Given the description of an element on the screen output the (x, y) to click on. 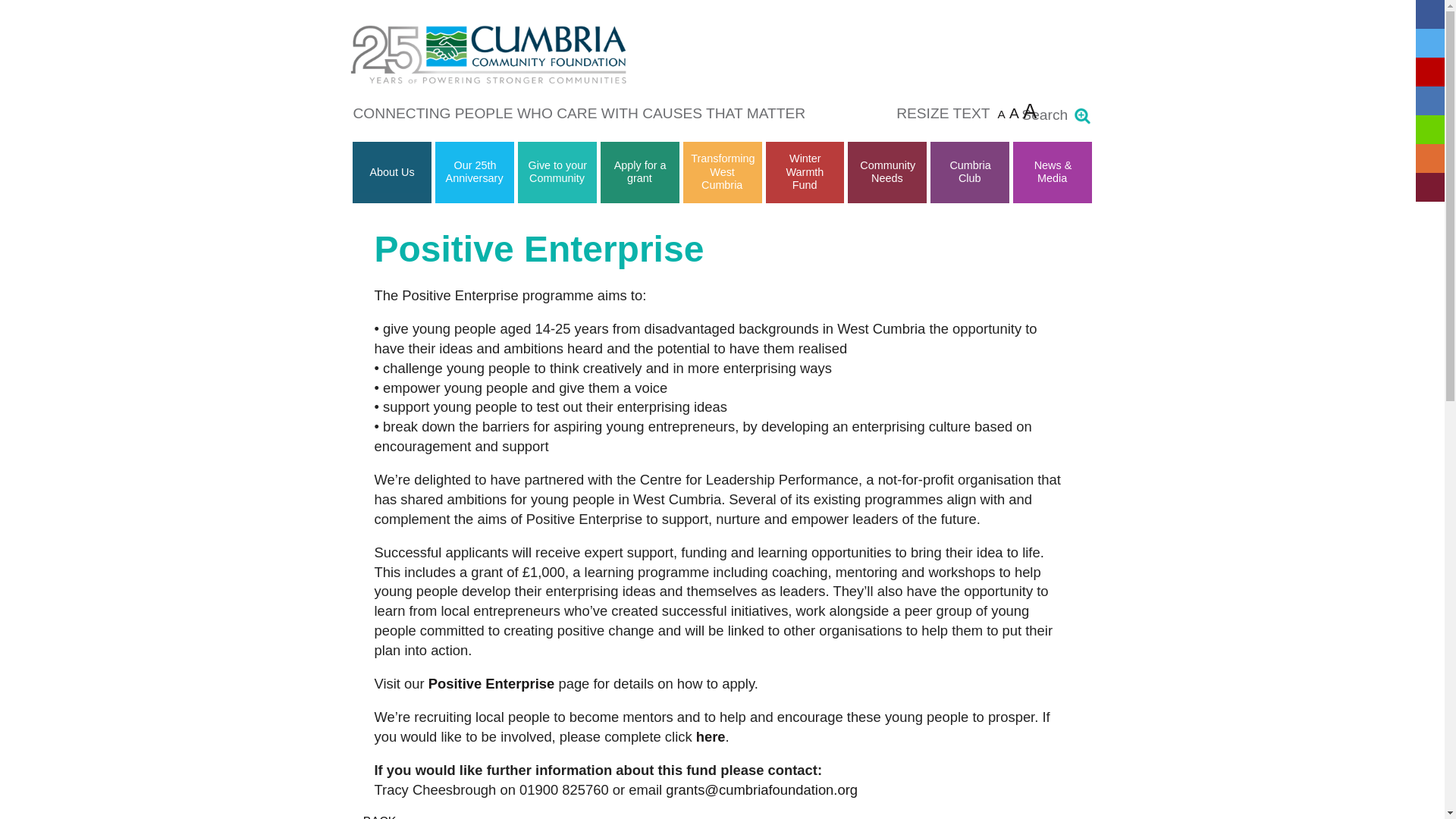
About Us (391, 172)
Give to your Community (556, 171)
Our 25th Anniversary (474, 171)
Search the site (1080, 116)
